Given the description of an element on the screen output the (x, y) to click on. 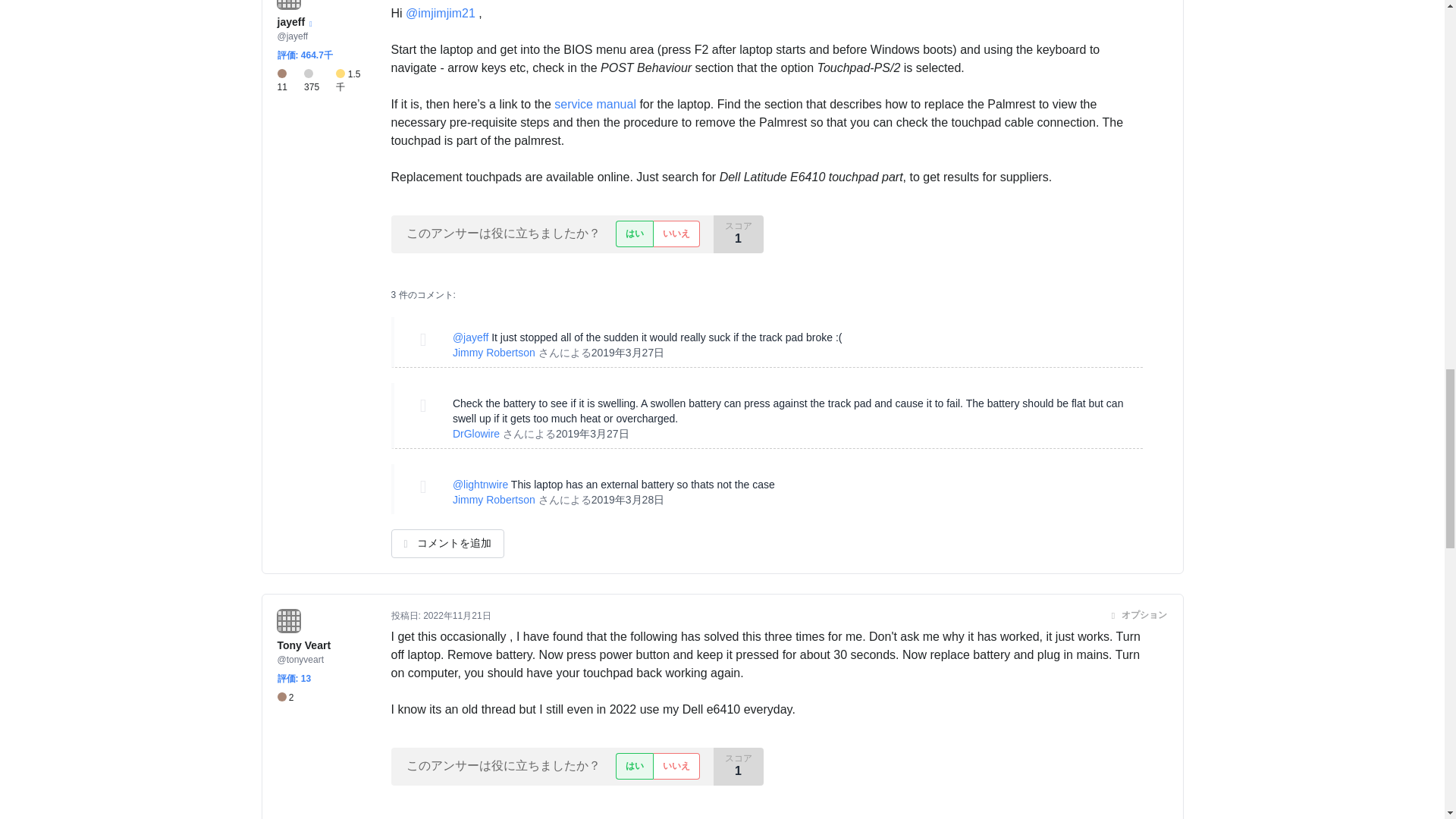
Wed, 27 Mar 2019 08:16:17 -0700 (628, 352)
Wed, 27 Mar 2019 09:55:55 -0700 (592, 433)
